Given the description of an element on the screen output the (x, y) to click on. 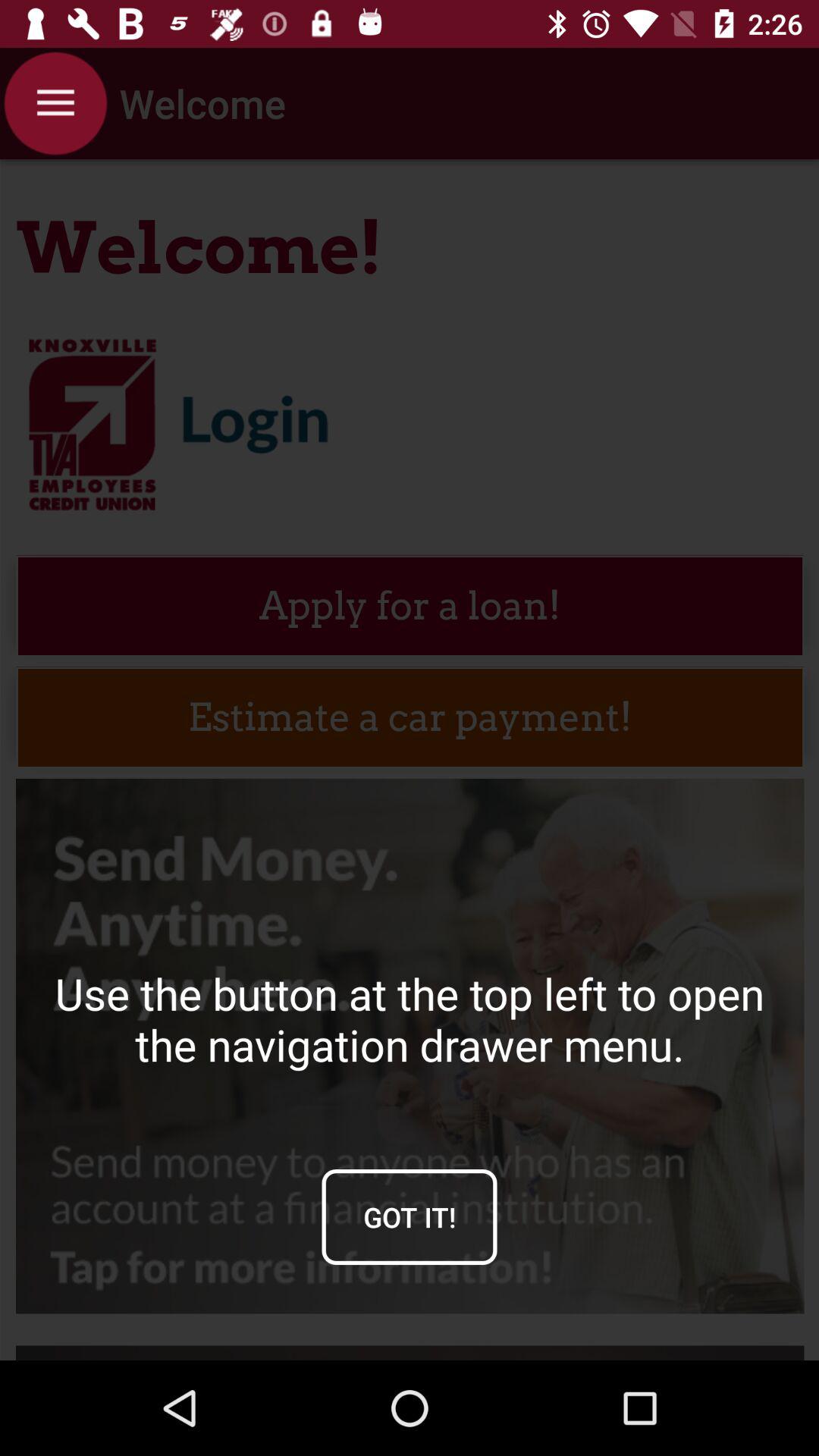
turn off the icon below the use the button icon (409, 1216)
